Given the description of an element on the screen output the (x, y) to click on. 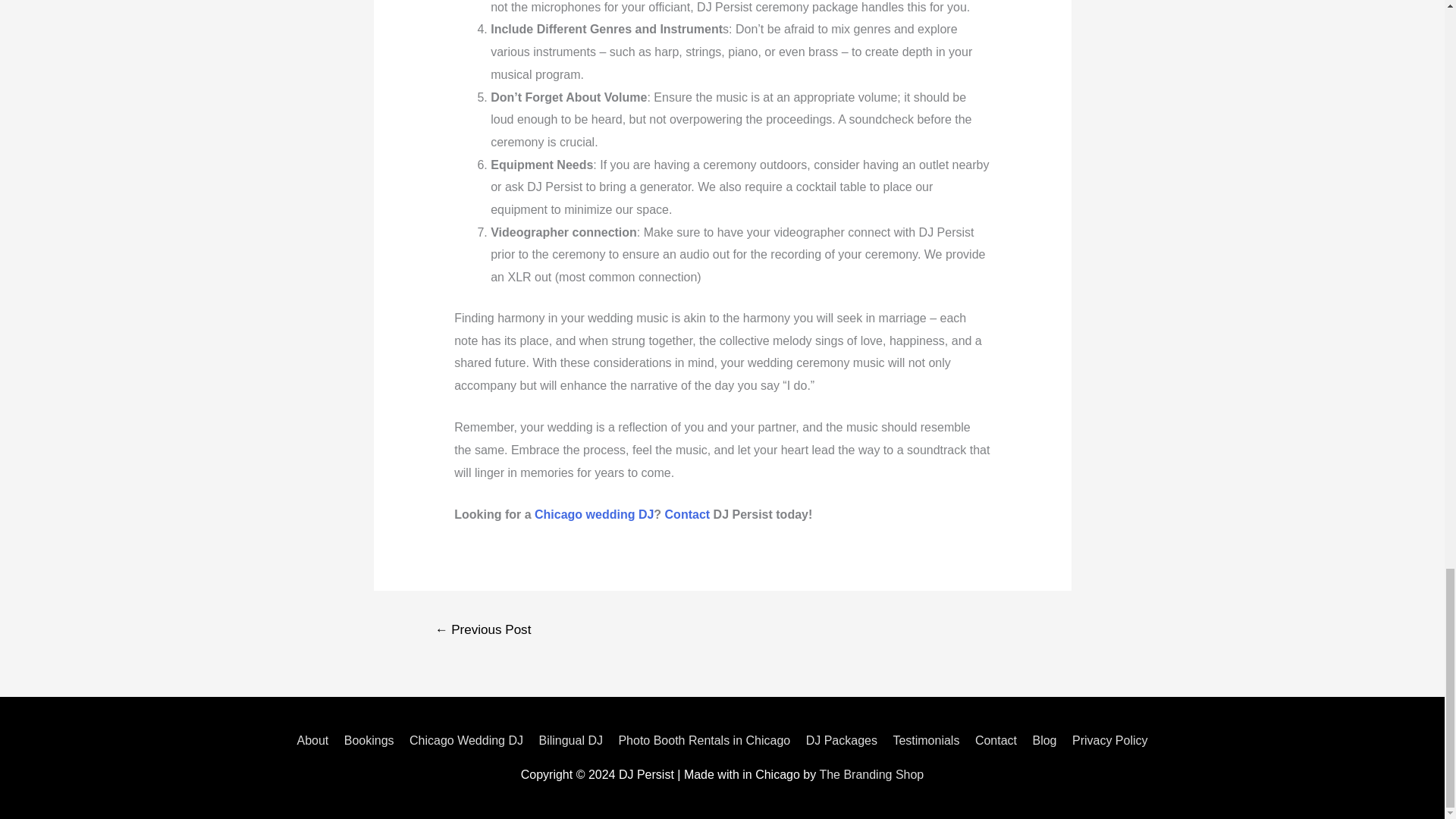
DJ Packages (841, 739)
Contact (687, 513)
Contact (996, 739)
Blog (1044, 739)
The Branding Shop (870, 774)
Bilingual DJ (570, 739)
Bookings (368, 739)
Chicago wedding DJ (593, 513)
Photo Booth Rentals in Chicago (703, 739)
Chicago Wedding DJ (466, 739)
